Given the description of an element on the screen output the (x, y) to click on. 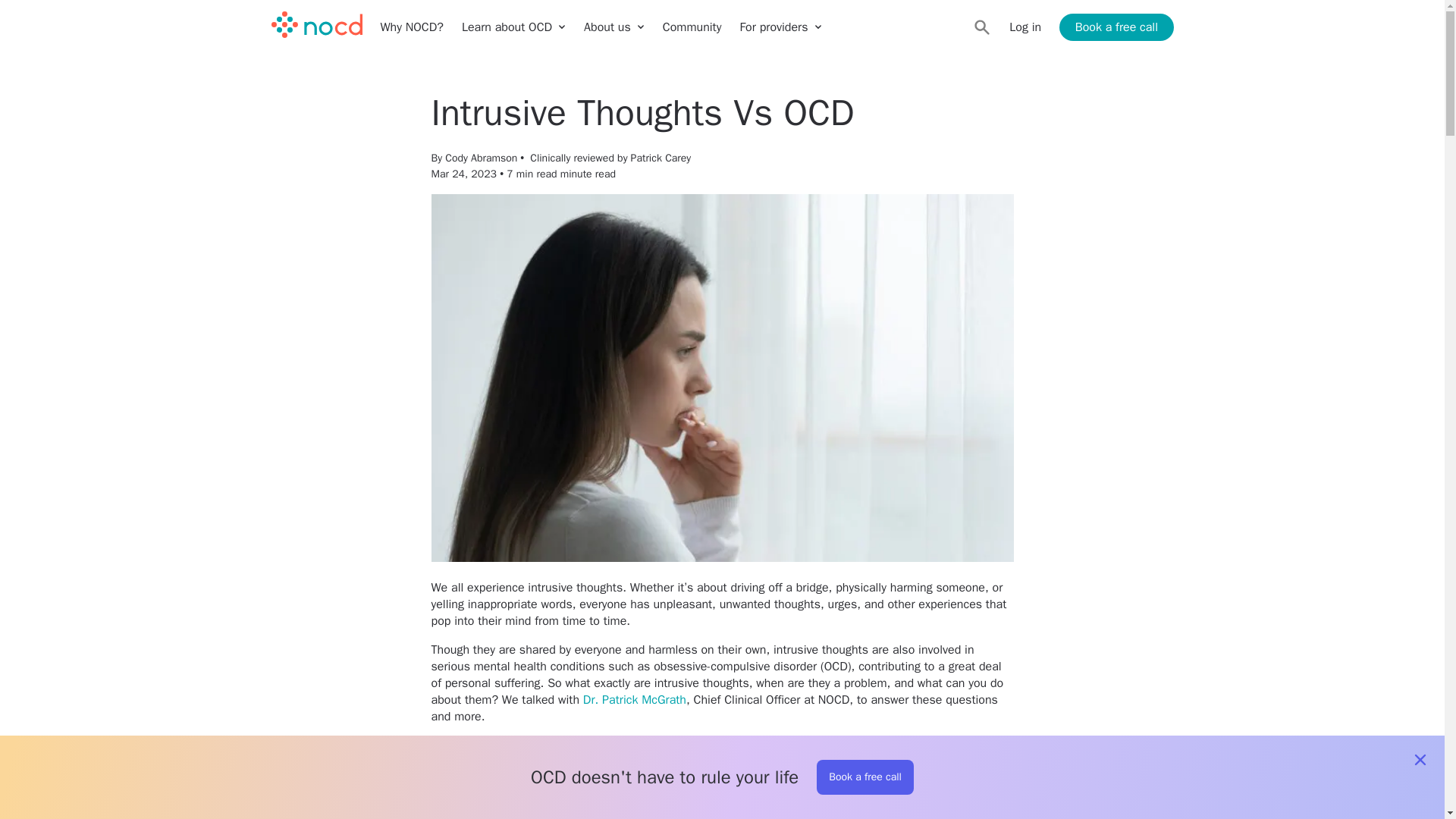
For providers (780, 27)
Book a free call (1116, 26)
Dr. Patrick McGrath (634, 699)
Learn about OCD (513, 27)
Community (692, 27)
Why NOCD? (412, 27)
About us (614, 27)
Log in (1025, 27)
What Are Intrusive Thoughts? (542, 812)
